Given the description of an element on the screen output the (x, y) to click on. 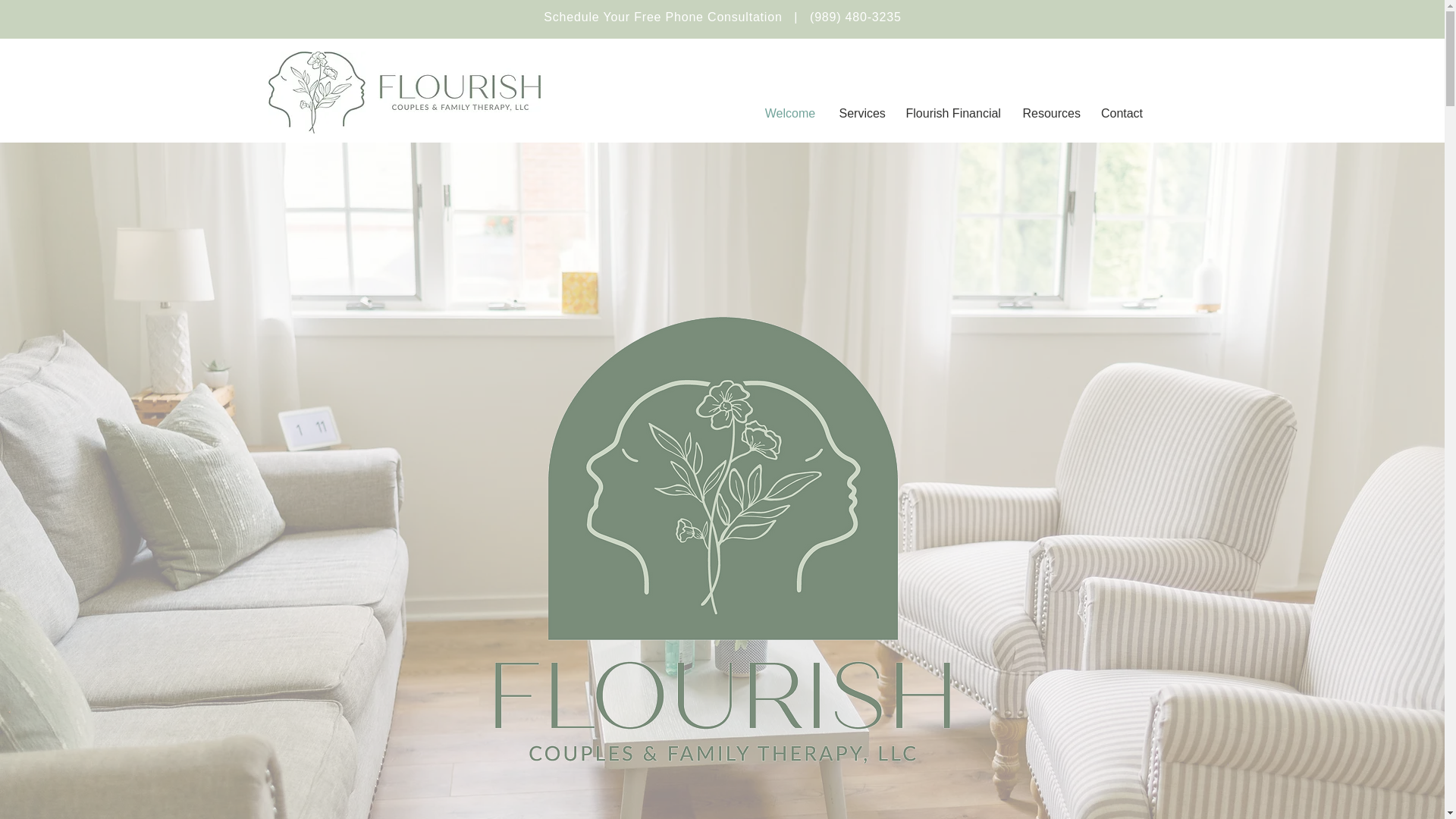
Services (861, 113)
Welcome (789, 113)
Contact (1121, 113)
Resources (1050, 113)
Flourish Financial (953, 113)
